Given the description of an element on the screen output the (x, y) to click on. 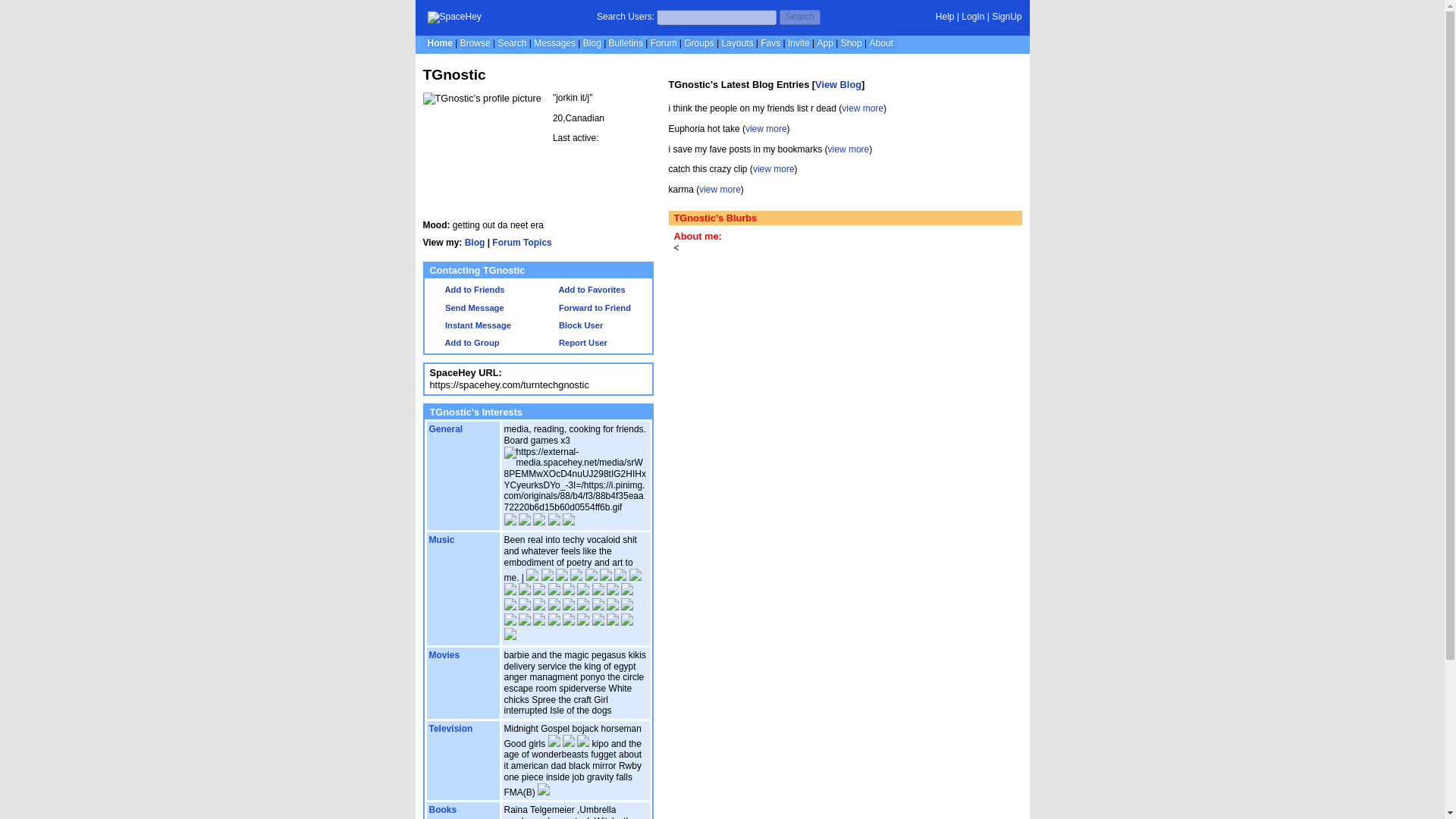
App (824, 42)
LogIn (972, 16)
Messages (554, 42)
Search (511, 42)
view more (773, 168)
Browse (475, 42)
Add to Group (464, 342)
Help (945, 16)
Forum (663, 42)
view more (766, 128)
Search (799, 17)
Block User (572, 325)
Groups (698, 42)
Invite (798, 42)
Layouts (736, 42)
